Given the description of an element on the screen output the (x, y) to click on. 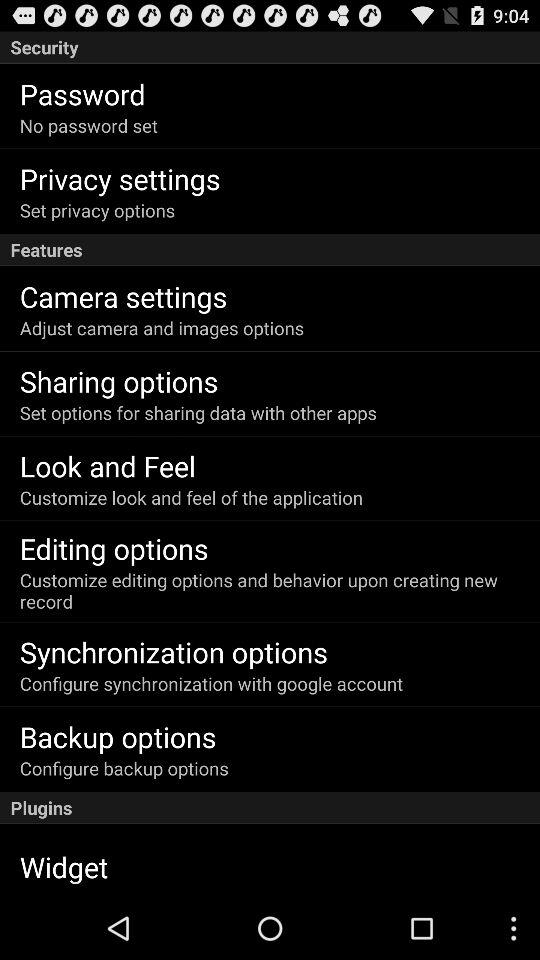
choose the item below no password set app (119, 178)
